Given the description of an element on the screen output the (x, y) to click on. 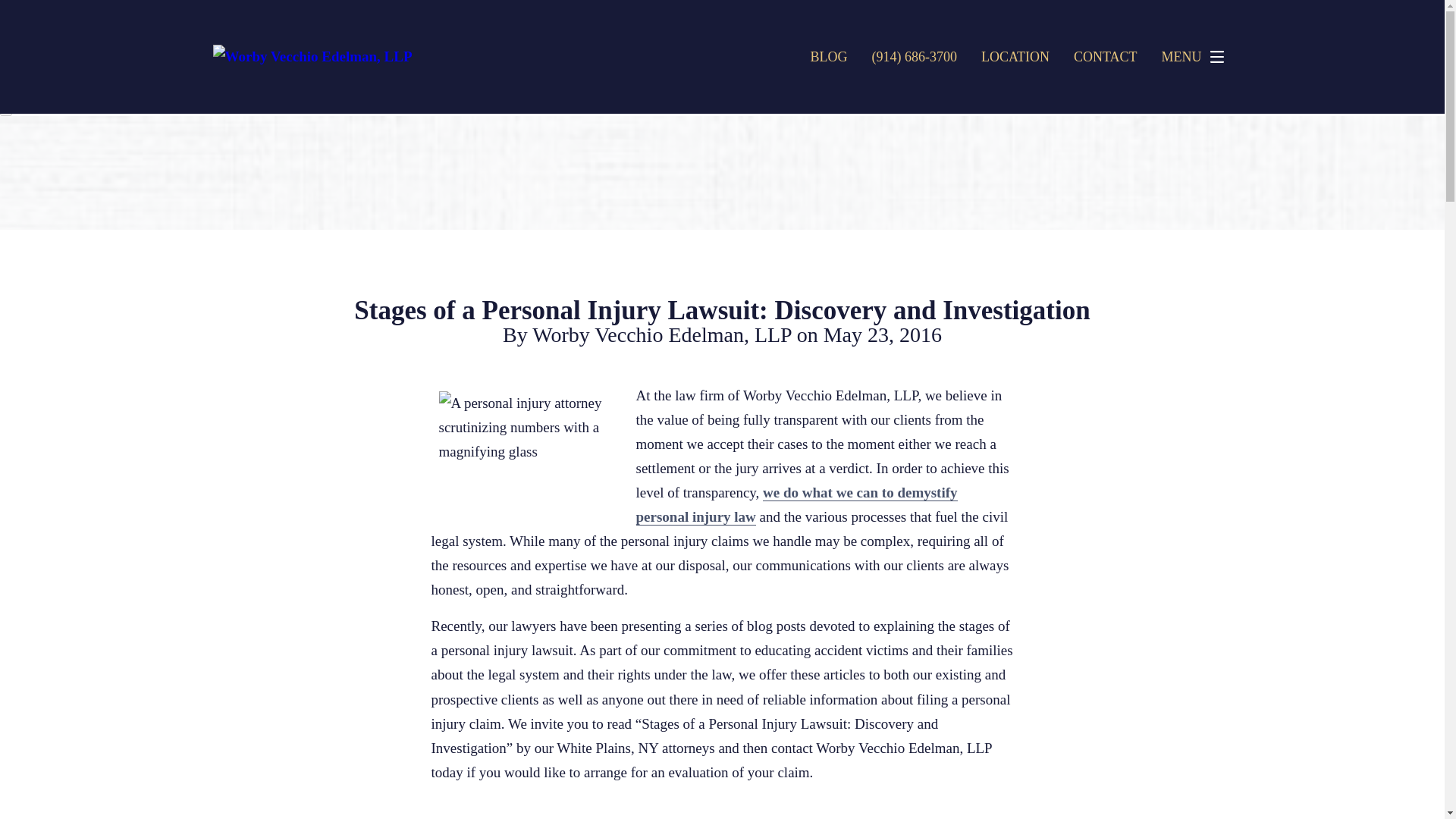
CONTACT (1105, 56)
MENU (1196, 56)
we do what we can to demystify personal injury law (795, 504)
BLOG (828, 56)
LOCATION (1015, 56)
